Given the description of an element on the screen output the (x, y) to click on. 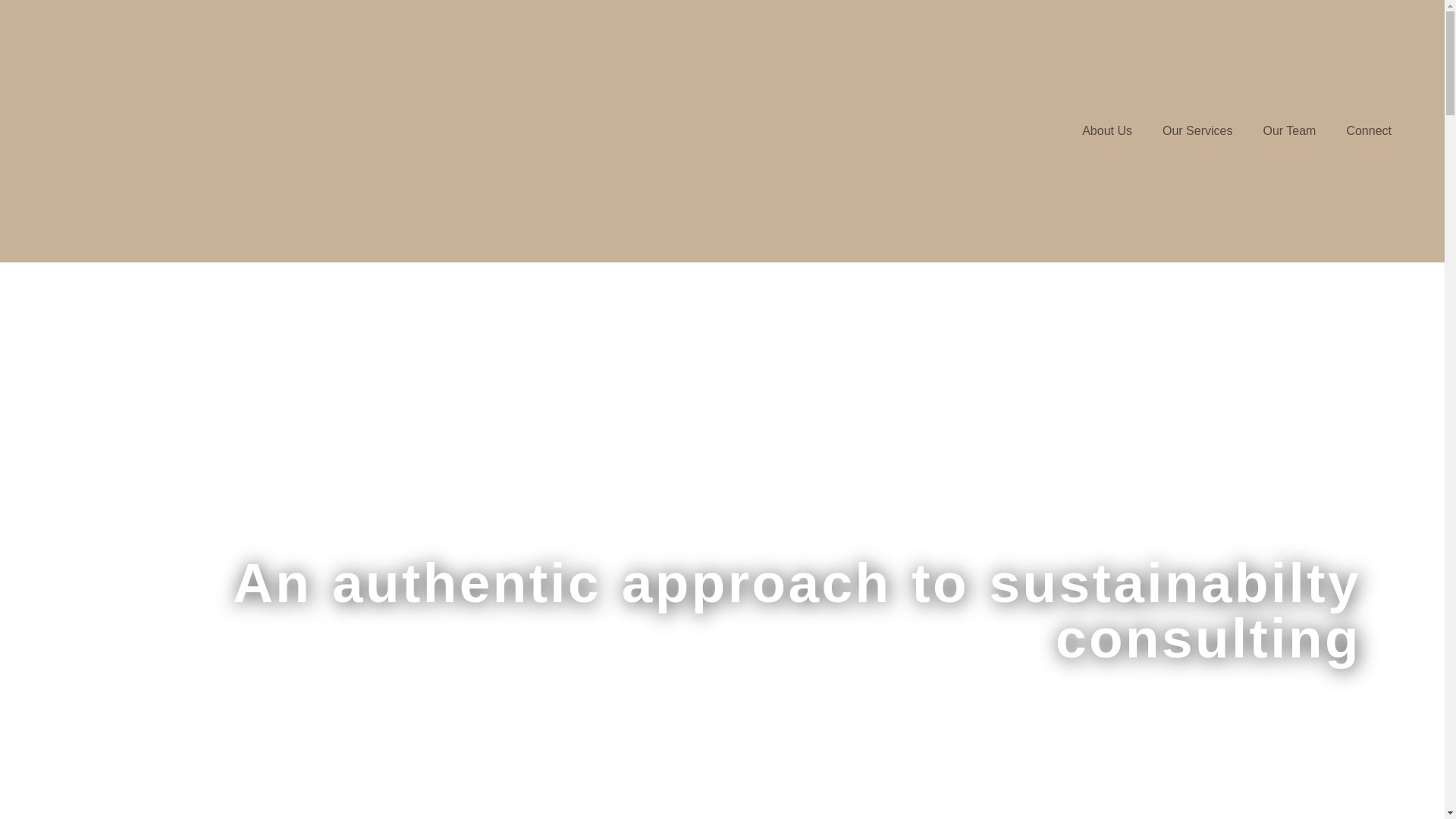
Our Team (1288, 130)
About Us (1107, 130)
Our Services (1197, 130)
Connect (1368, 130)
